Given the description of an element on the screen output the (x, y) to click on. 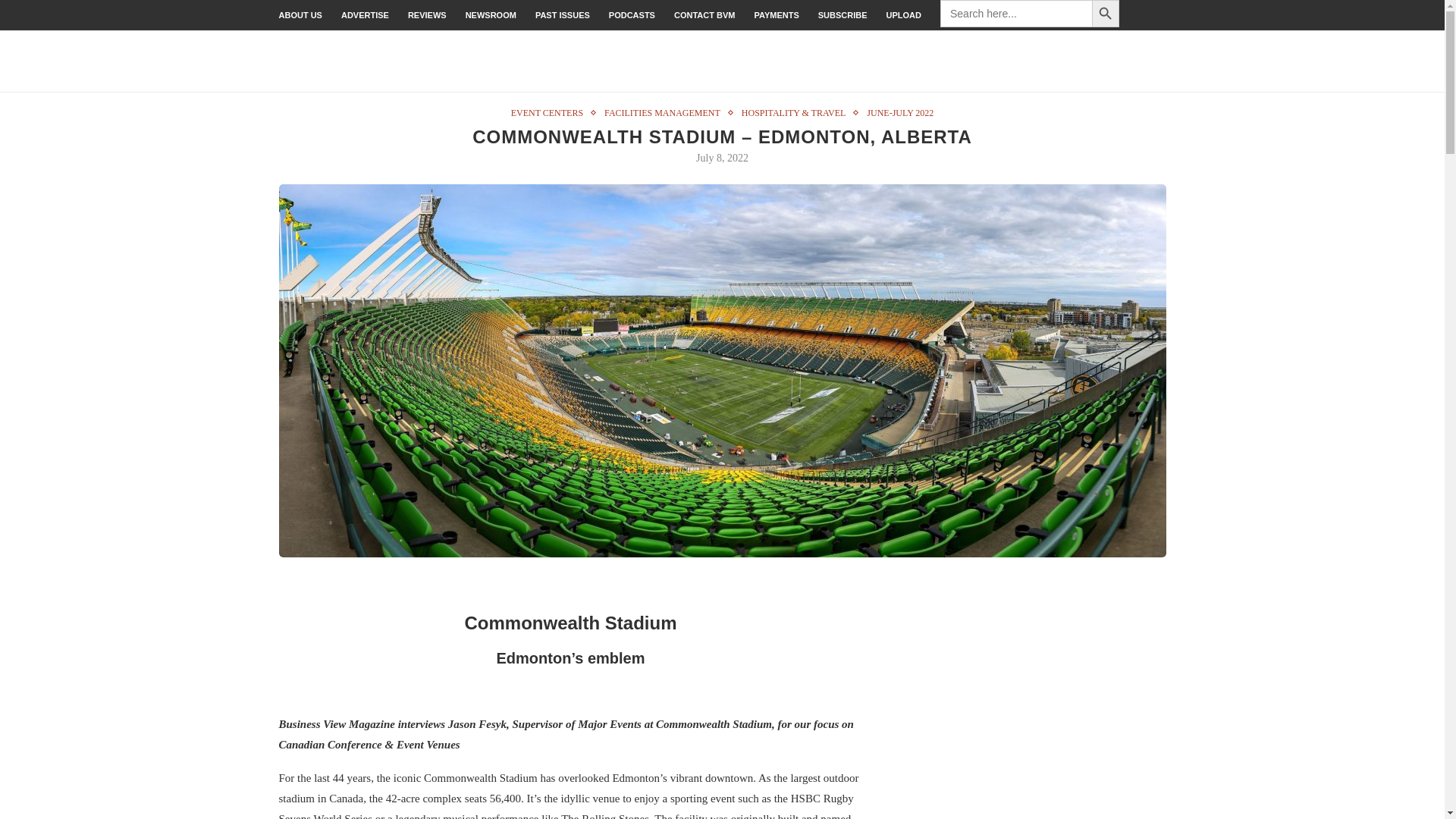
PAST ISSUES (562, 14)
PODCASTS (631, 14)
FACILITIES MANAGEMENT (666, 97)
SUBSCRIBE (842, 14)
ADVERTISE (364, 14)
REVIEWS (426, 14)
Caribbean (1144, 60)
View all posts in June-July 2022 (899, 97)
Payments (775, 14)
Upload (903, 14)
NEWSROOM (490, 14)
Search Button (1105, 13)
PAYMENTS (775, 14)
UPLOAD (903, 14)
View all posts in Facilities Management (666, 97)
